Given the description of an element on the screen output the (x, y) to click on. 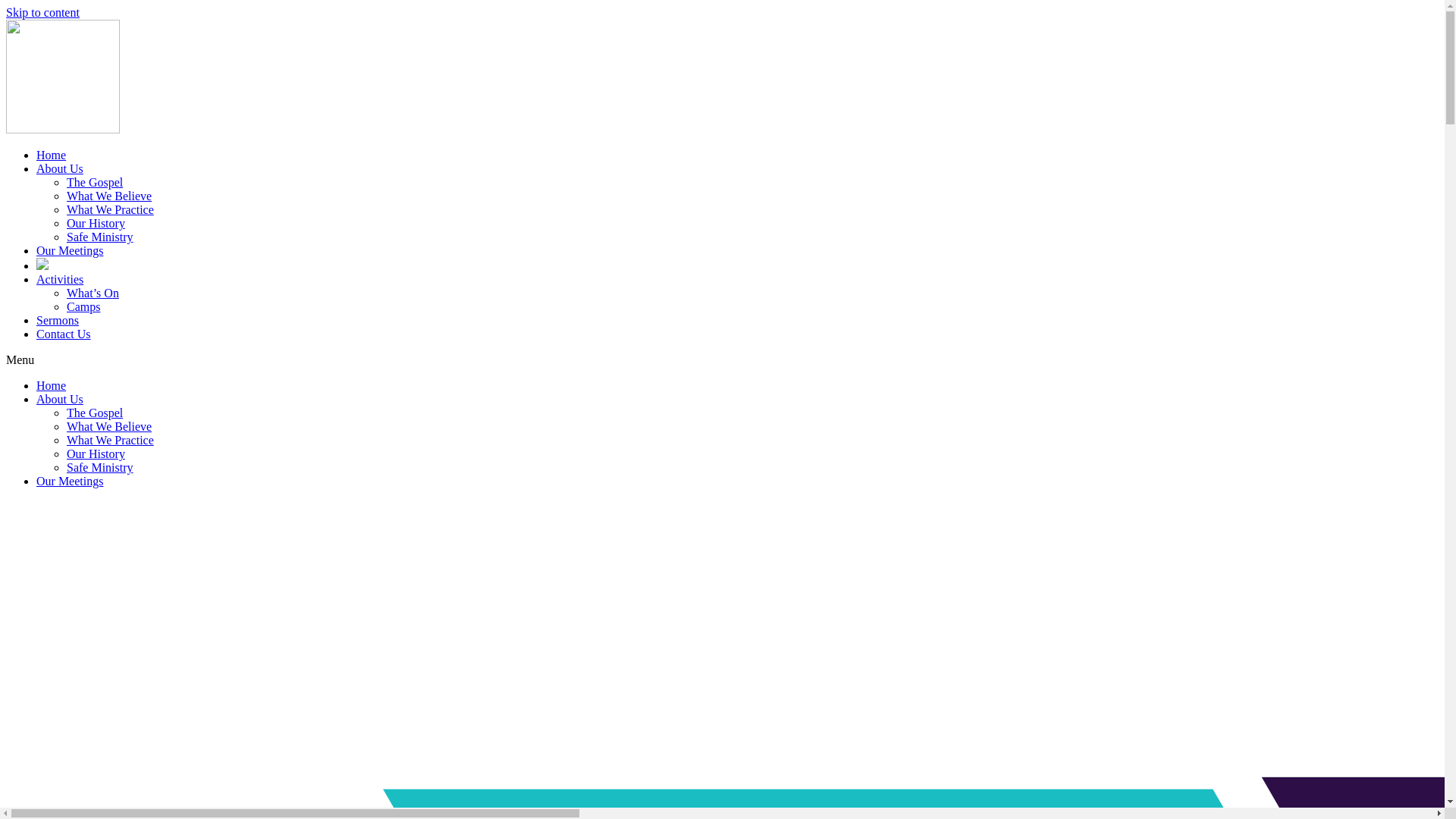
Skip to content Element type: text (42, 12)
What We Believe Element type: text (108, 195)
About Us Element type: text (59, 168)
The Gospel Element type: text (94, 181)
Home Element type: text (50, 154)
What We Believe Element type: text (108, 426)
What We Practice Element type: text (109, 209)
The Gospel Element type: text (94, 412)
Home Element type: text (50, 385)
Camps Element type: text (83, 306)
Our History Element type: text (95, 453)
Activities Element type: text (59, 279)
Contact Us Element type: text (63, 333)
About Us Element type: text (59, 398)
Safe Ministry Element type: text (99, 467)
Safe Ministry Element type: text (99, 236)
Our Meetings Element type: text (69, 250)
Our History Element type: text (95, 222)
Our Meetings Element type: text (69, 480)
Sermons Element type: text (57, 319)
What We Practice Element type: text (109, 439)
